Given the description of an element on the screen output the (x, y) to click on. 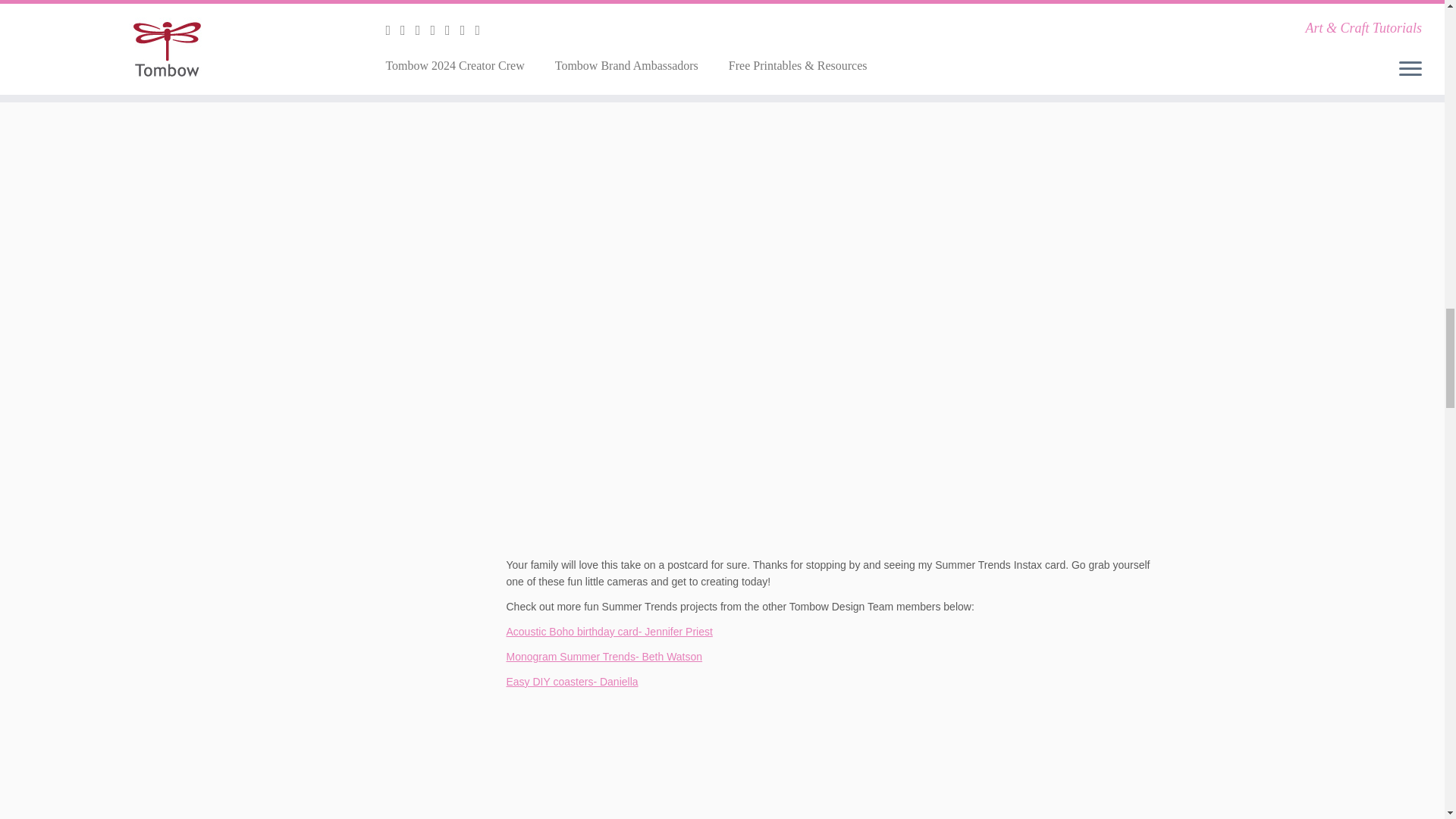
Acoustic Boho birthday card- Jennifer Priest (609, 631)
